Given the description of an element on the screen output the (x, y) to click on. 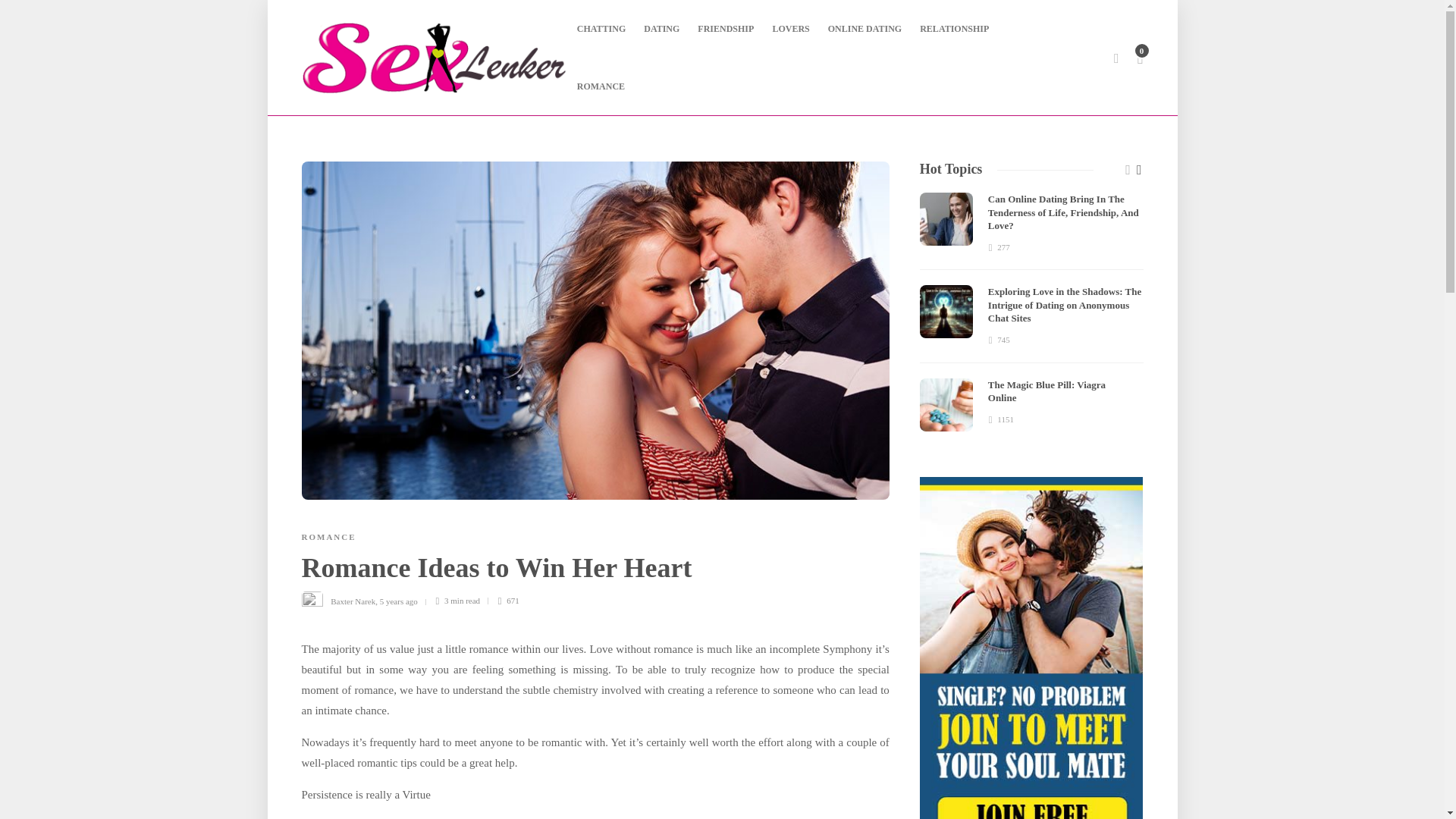
ONLINE DATING (864, 28)
RELATIONSHIP (954, 28)
FRIENDSHIP (725, 28)
